Given the description of an element on the screen output the (x, y) to click on. 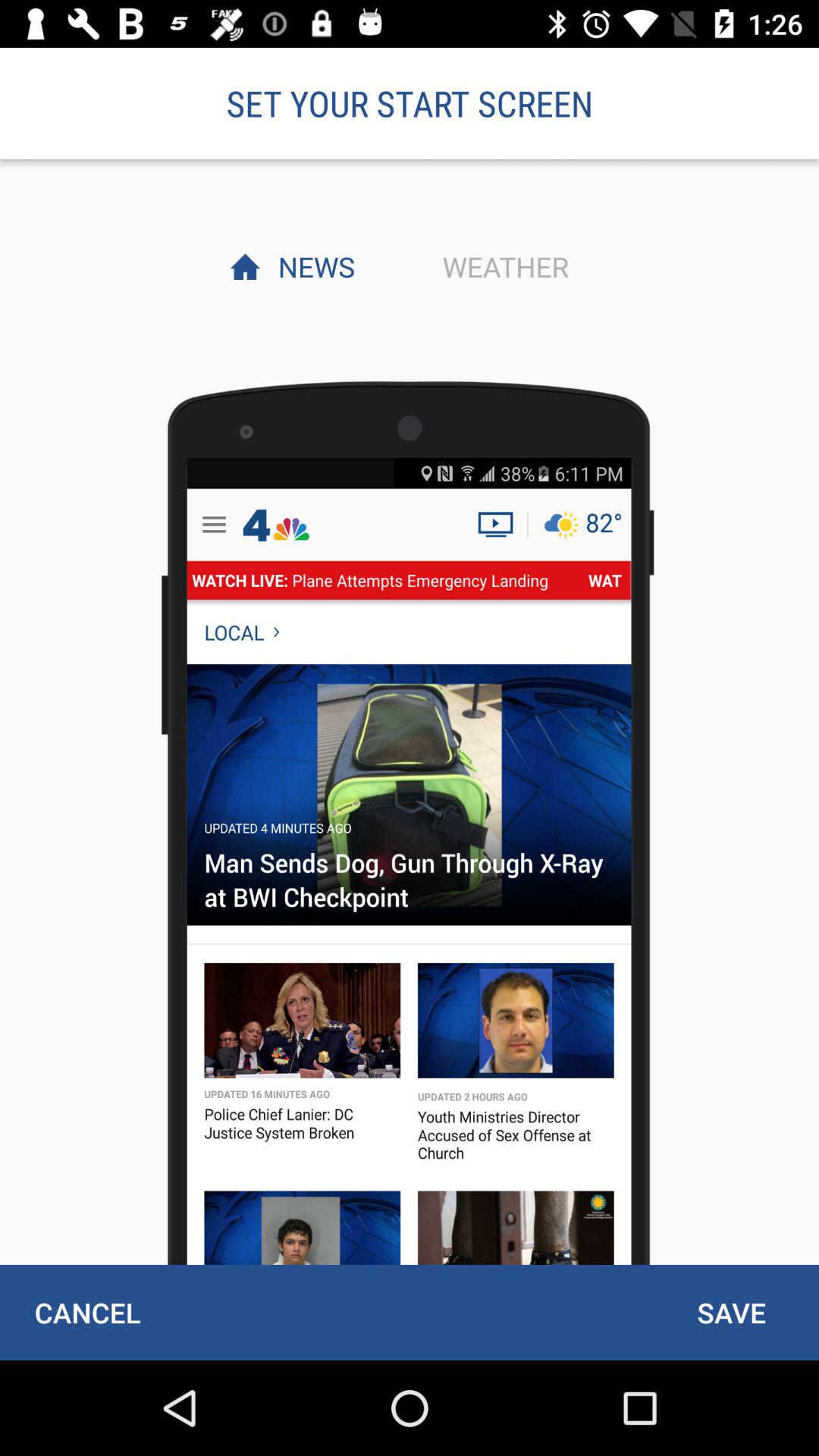
open icon at the bottom right corner (731, 1312)
